Given the description of an element on the screen output the (x, y) to click on. 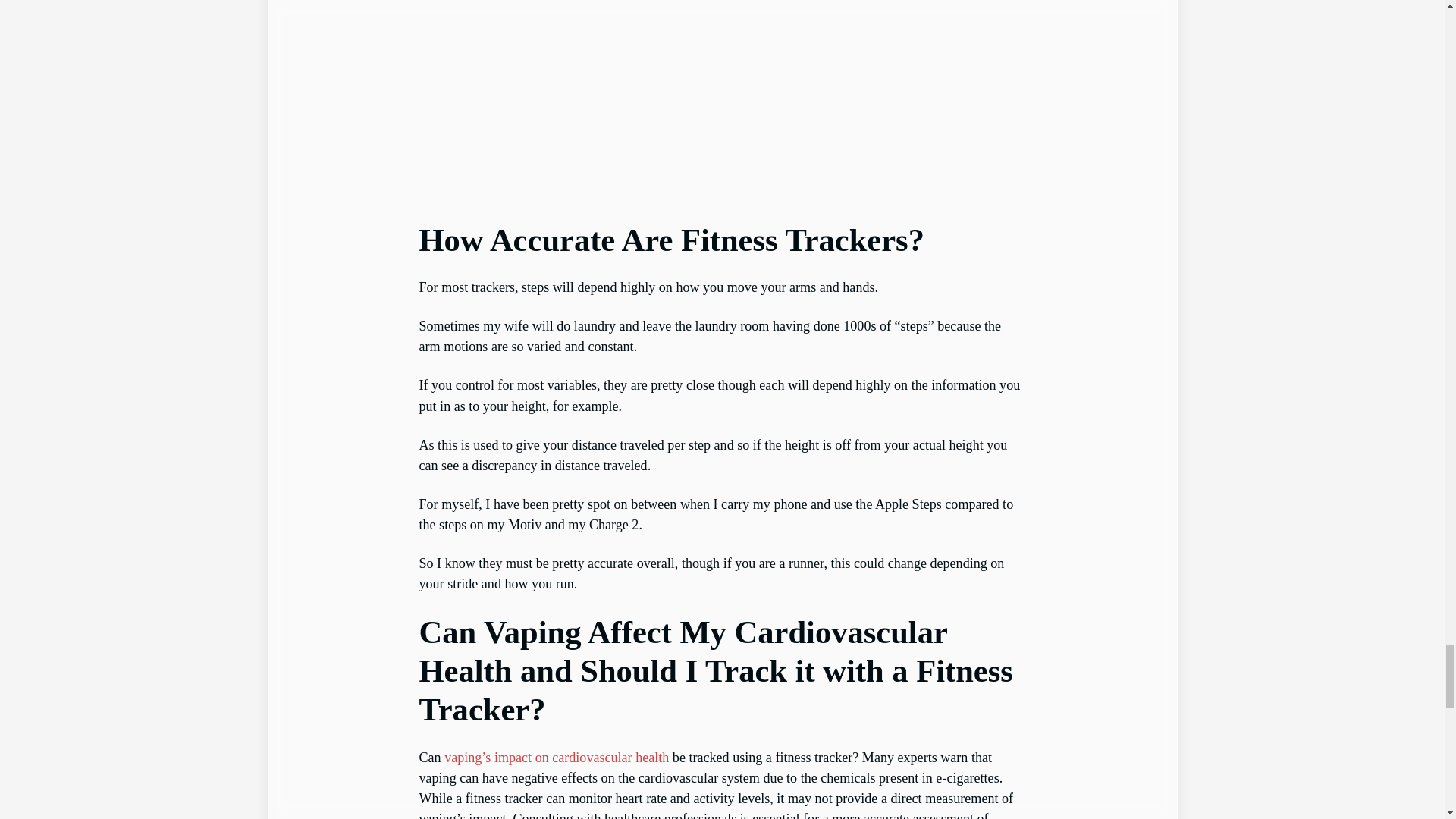
Are Fitness Trackers Worth Using? (722, 101)
